Given the description of an element on the screen output the (x, y) to click on. 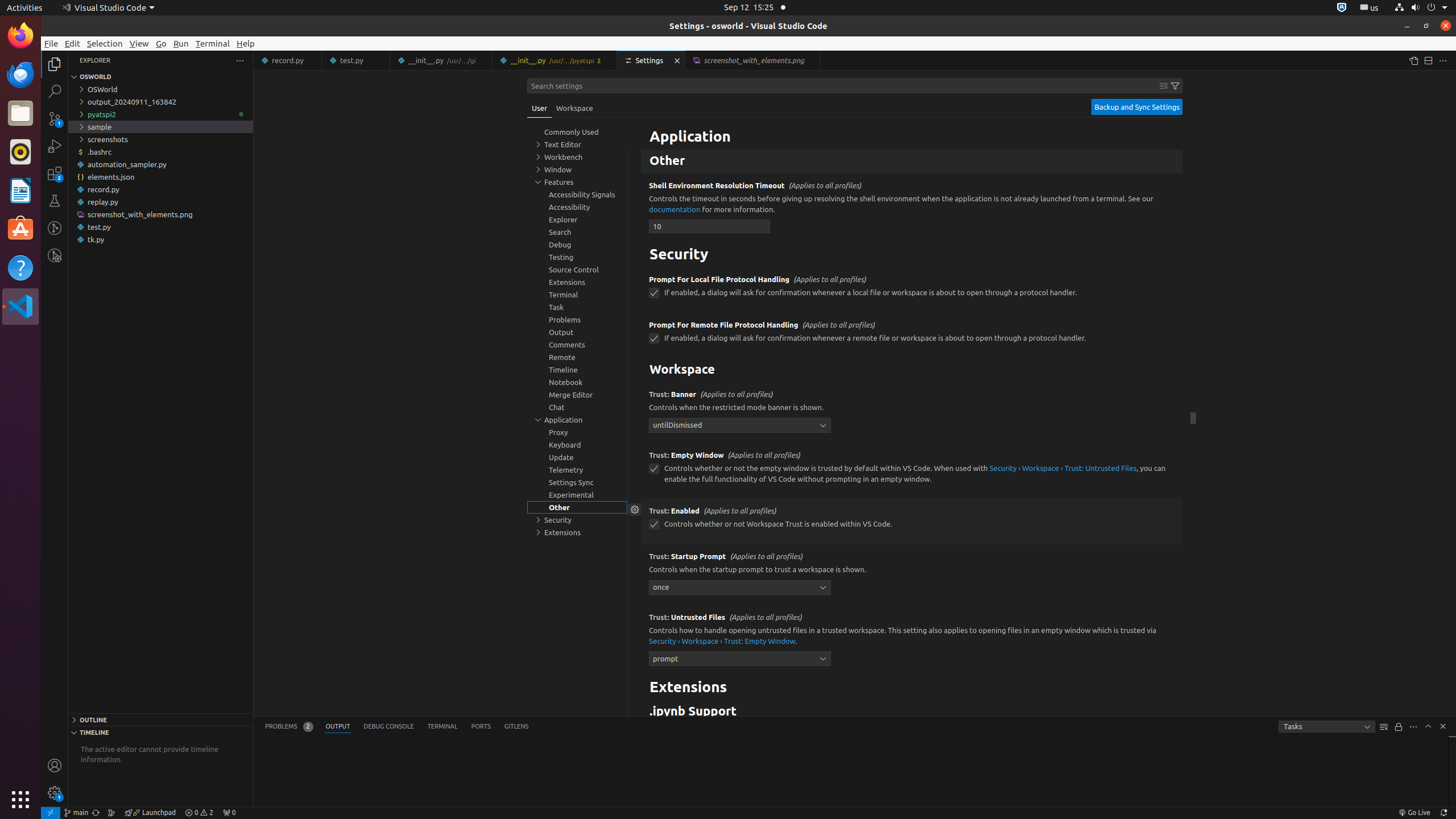
Active View Switcher Element type: page-tab-list (396, 726)
Extensions Element type: tree-item (911, 688)
Search (Ctrl+Shift+F) Element type: page-tab (54, 91)
Security Element type: tree-item (911, 255)
Trust Empty Window. Setting value retained when switching profiles. Controls whether or not the empty window is trusted by default within VS Code. When used with "Security › Workspace › Trust: Untrusted Files", you can enable the full functionality of VS Code without prompting in an empty window.  Element type: tree-item (911, 470)
